Given the description of an element on the screen output the (x, y) to click on. 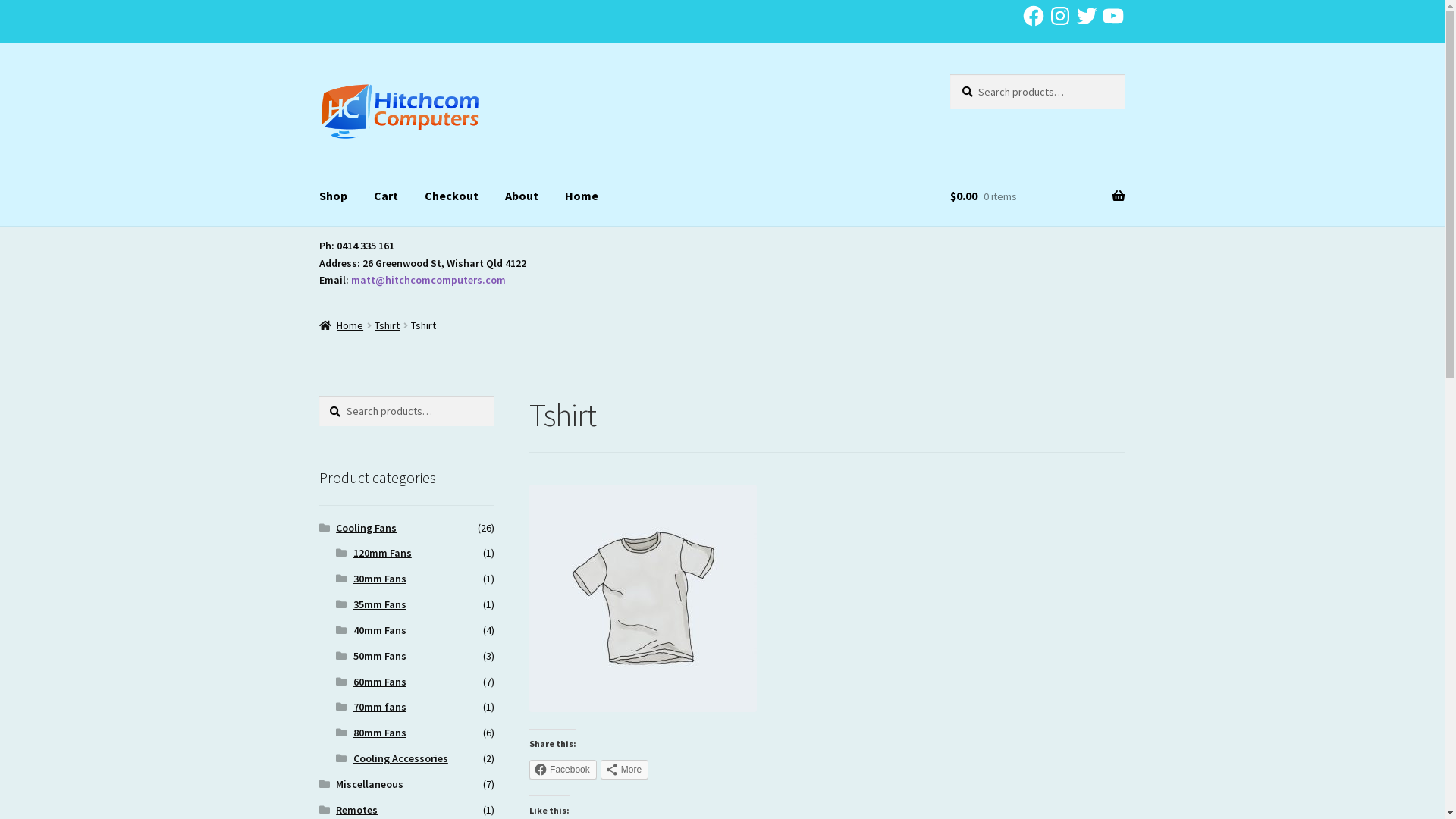
30mm Fans Element type: text (379, 578)
Tshirt Element type: text (386, 325)
Home Element type: text (581, 195)
YouTube Element type: text (1113, 15)
About Element type: text (521, 195)
Miscellaneous Element type: text (369, 783)
matt@hitchcomcomputers.com Element type: text (428, 279)
120mm Fans Element type: text (382, 552)
More Element type: text (624, 769)
Checkout Element type: text (451, 195)
Search Element type: text (318, 395)
Remotes Element type: text (356, 809)
Skip to navigation Element type: text (318, 73)
50mm Fans Element type: text (379, 655)
$0.00 0 items Element type: text (1037, 195)
60mm Fans Element type: text (379, 681)
35mm Fans Element type: text (379, 604)
Cooling Fans Element type: text (365, 527)
Cooling Accessories Element type: text (400, 758)
Shop Element type: text (333, 195)
40mm Fans Element type: text (379, 630)
Home Element type: text (341, 325)
Cart Element type: text (385, 195)
80mm Fans Element type: text (379, 732)
Instagram Element type: text (1060, 15)
Search Element type: text (949, 73)
Twitter Element type: text (1086, 15)
Facebook Element type: text (562, 769)
Facebook Element type: text (1033, 15)
70mm fans Element type: text (379, 706)
